Given the description of an element on the screen output the (x, y) to click on. 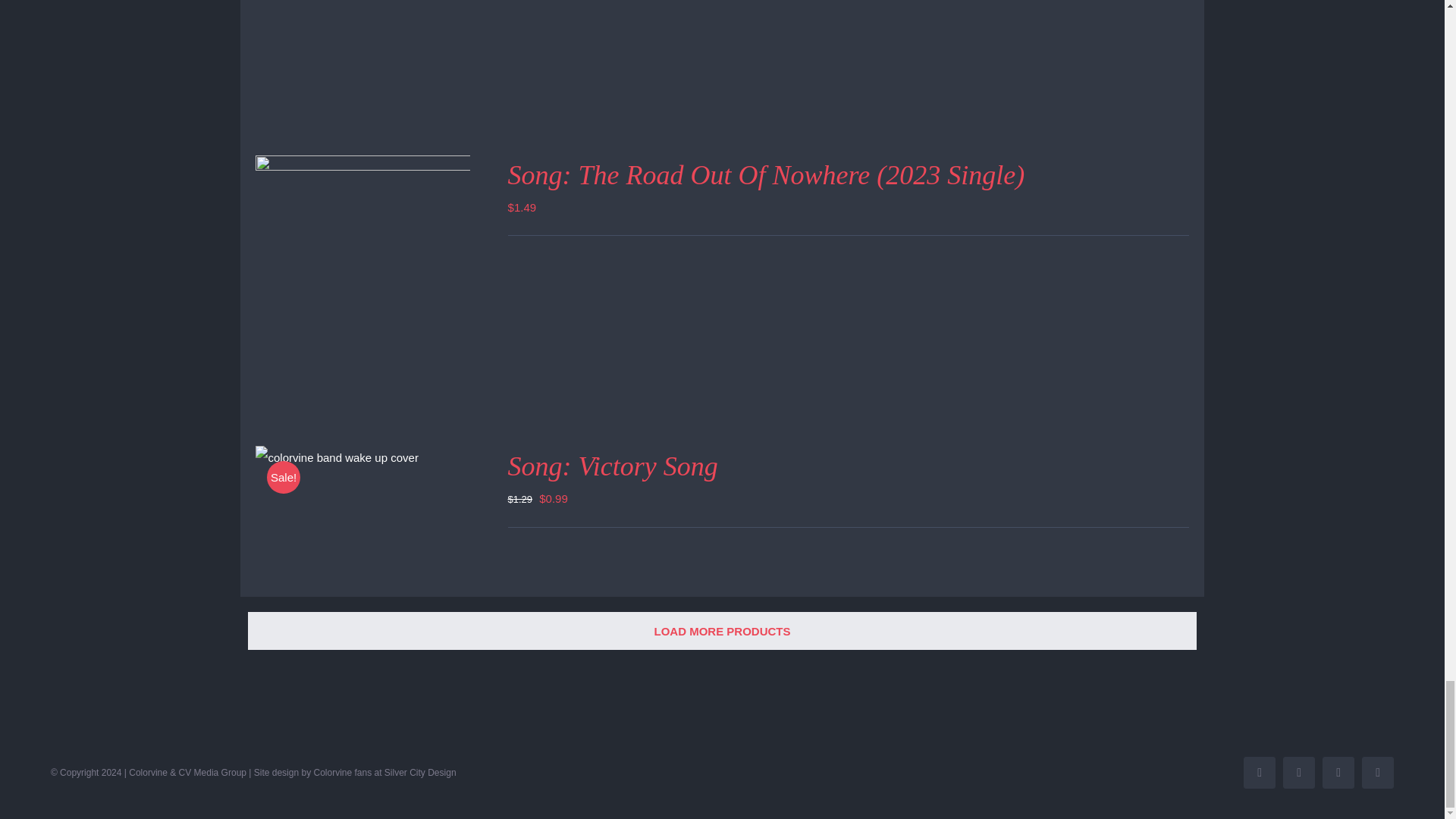
YouTube (1298, 772)
Facebook (1259, 772)
Vimeo (1377, 772)
Instagram (1338, 772)
